Given the description of an element on the screen output the (x, y) to click on. 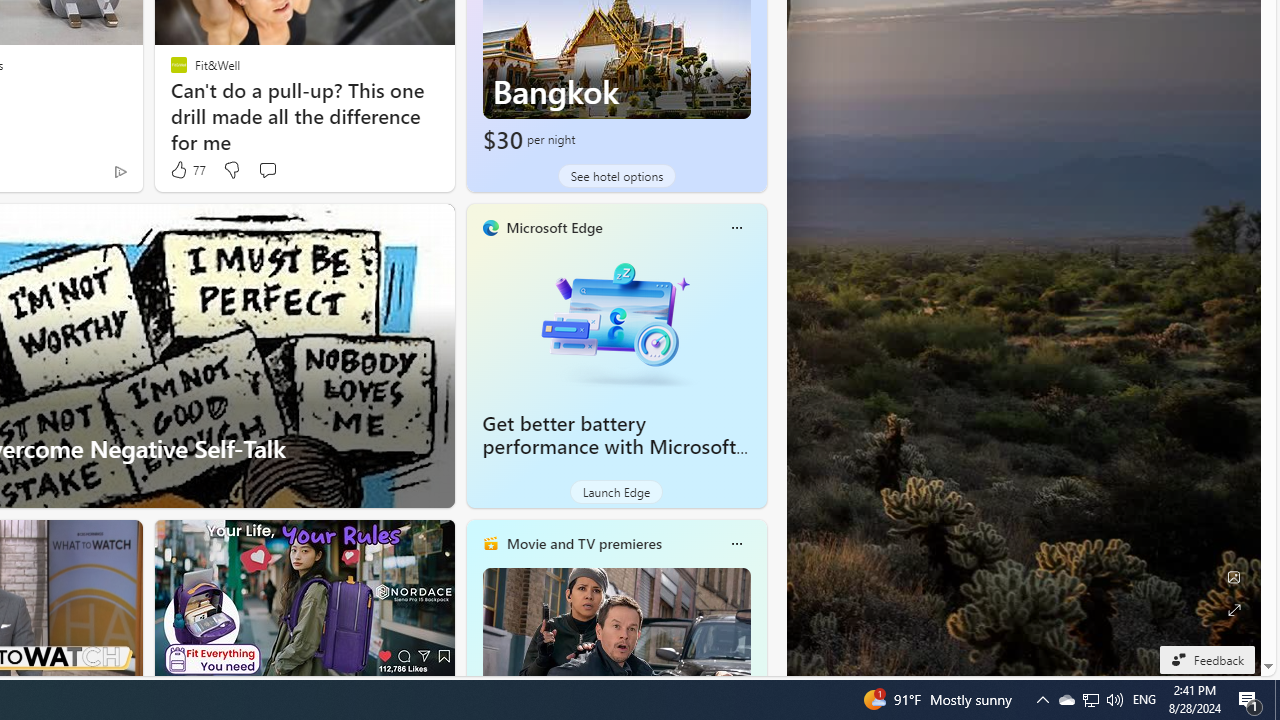
See hotel options (615, 175)
Get better battery performance with Microsoft Edge (609, 446)
Start the conversation (267, 169)
Microsoft Edge (553, 227)
Ad Choice (119, 171)
Class: icon-img (736, 543)
Get better battery performance with Microsoft Edge (616, 321)
Movie and TV premieres (583, 543)
Dislike (230, 170)
Feedback (1206, 659)
Edit Background (1233, 577)
Expand background (1233, 610)
Start the conversation (267, 170)
More options (736, 543)
